Given the description of an element on the screen output the (x, y) to click on. 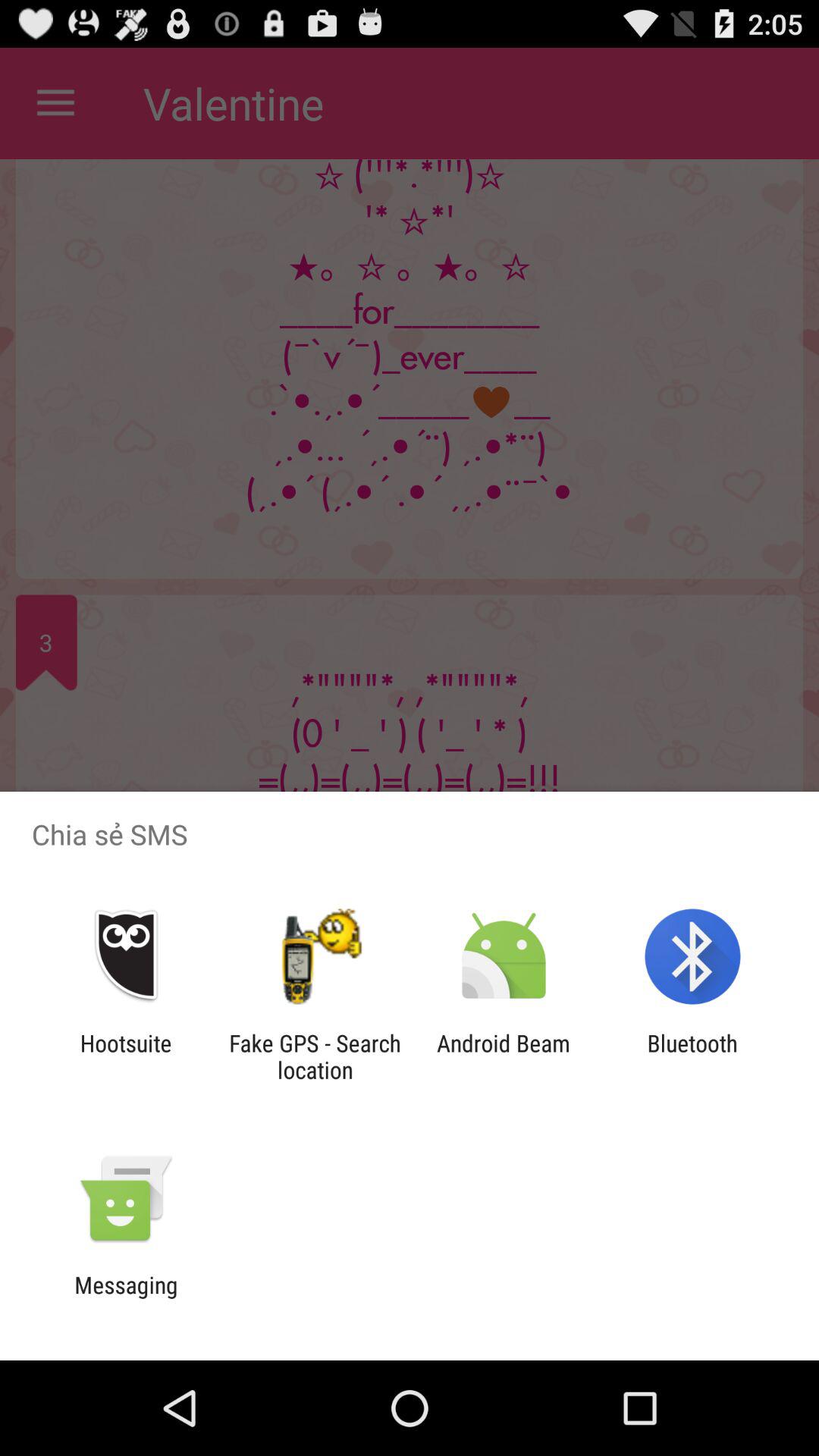
turn off icon next to the bluetooth icon (503, 1056)
